Given the description of an element on the screen output the (x, y) to click on. 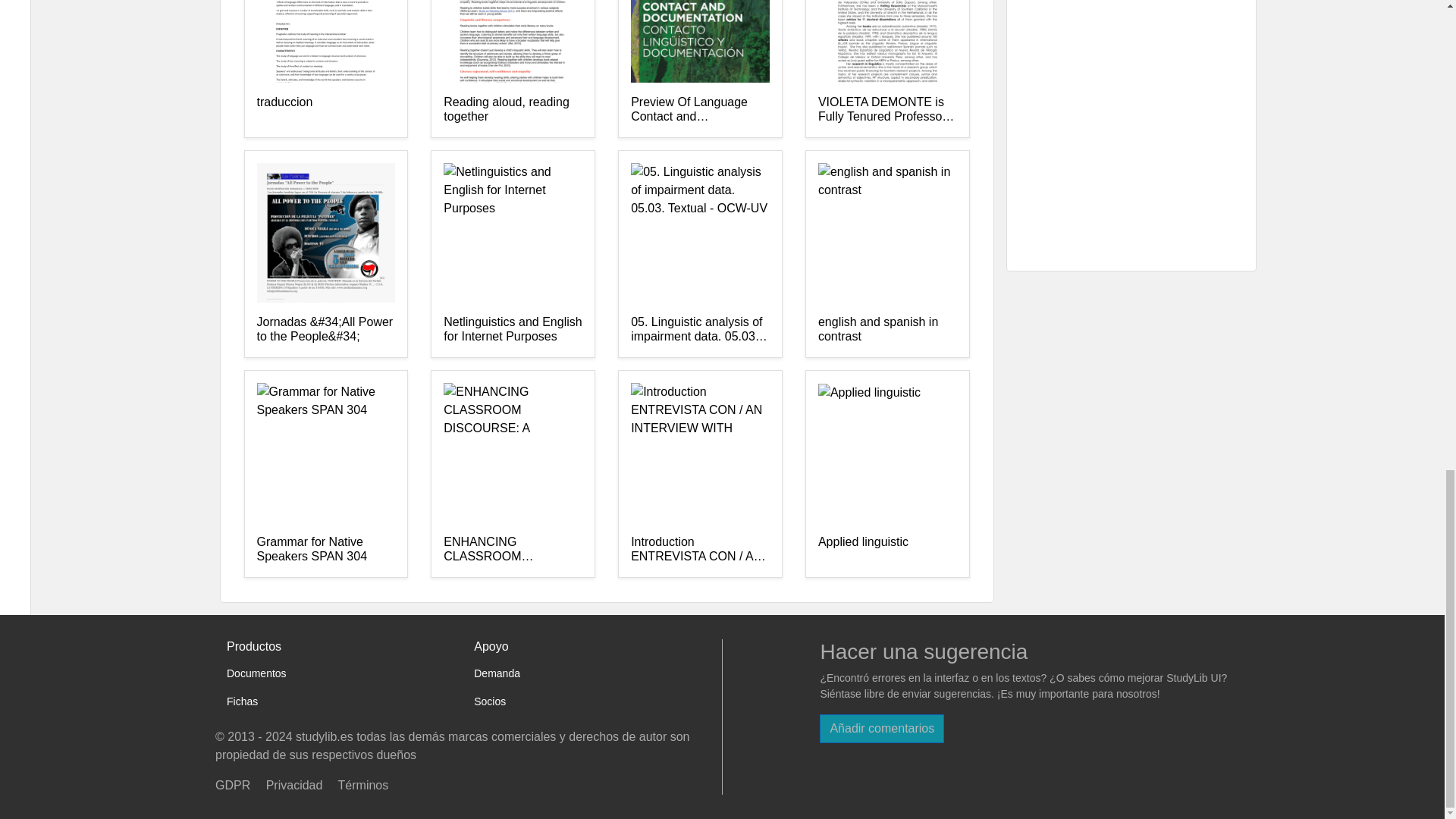
Grammar for Native Speakers SPAN 304 (325, 549)
english and spanish in contrast (887, 329)
Netlinguistics and English for Internet Purposes (513, 329)
Preview Of Language Contact and Documentation (700, 110)
english and spanish in contrast (887, 329)
Preview Of Language Contact and Documentation (700, 110)
Reading aloud, reading together (513, 110)
